Given the description of an element on the screen output the (x, y) to click on. 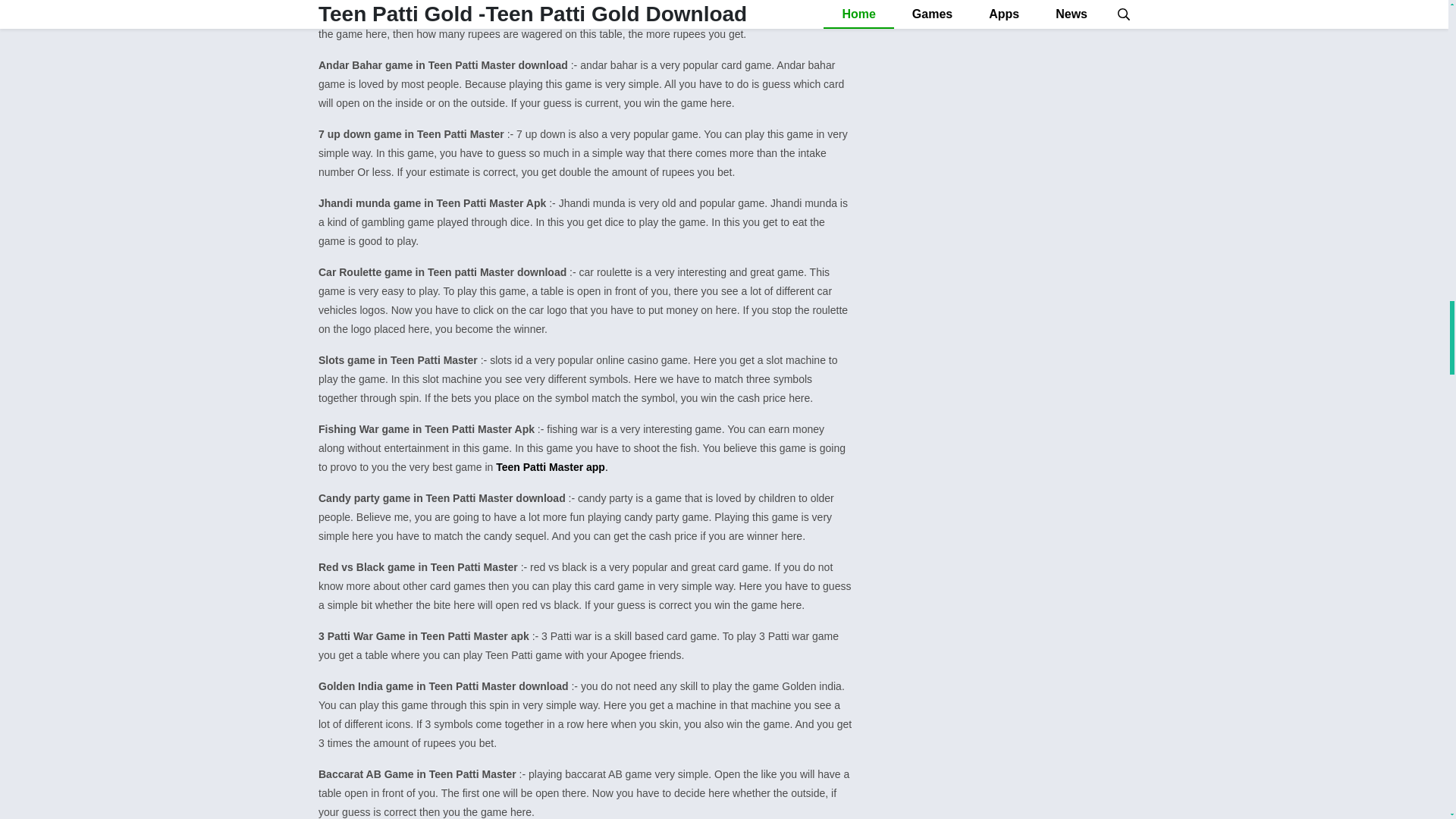
Teen Patti Master app. (552, 467)
